Given the description of an element on the screen output the (x, y) to click on. 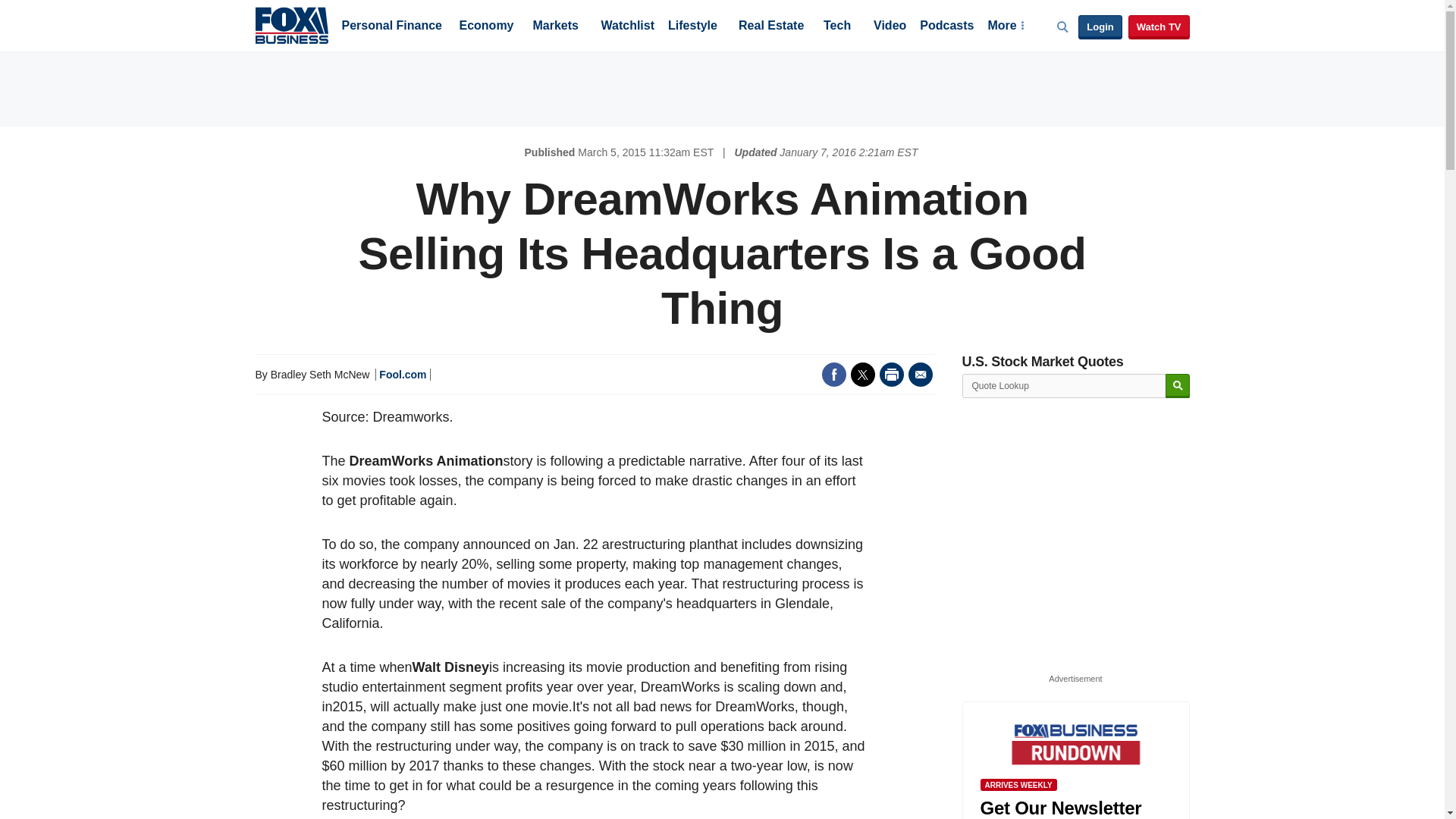
Personal Finance (391, 27)
Fox Business (290, 24)
Economy (486, 27)
More (1005, 27)
Watchlist (626, 27)
Search (1176, 385)
Video (889, 27)
Search (1176, 385)
Login (1099, 27)
Podcasts (947, 27)
